Given the description of an element on the screen output the (x, y) to click on. 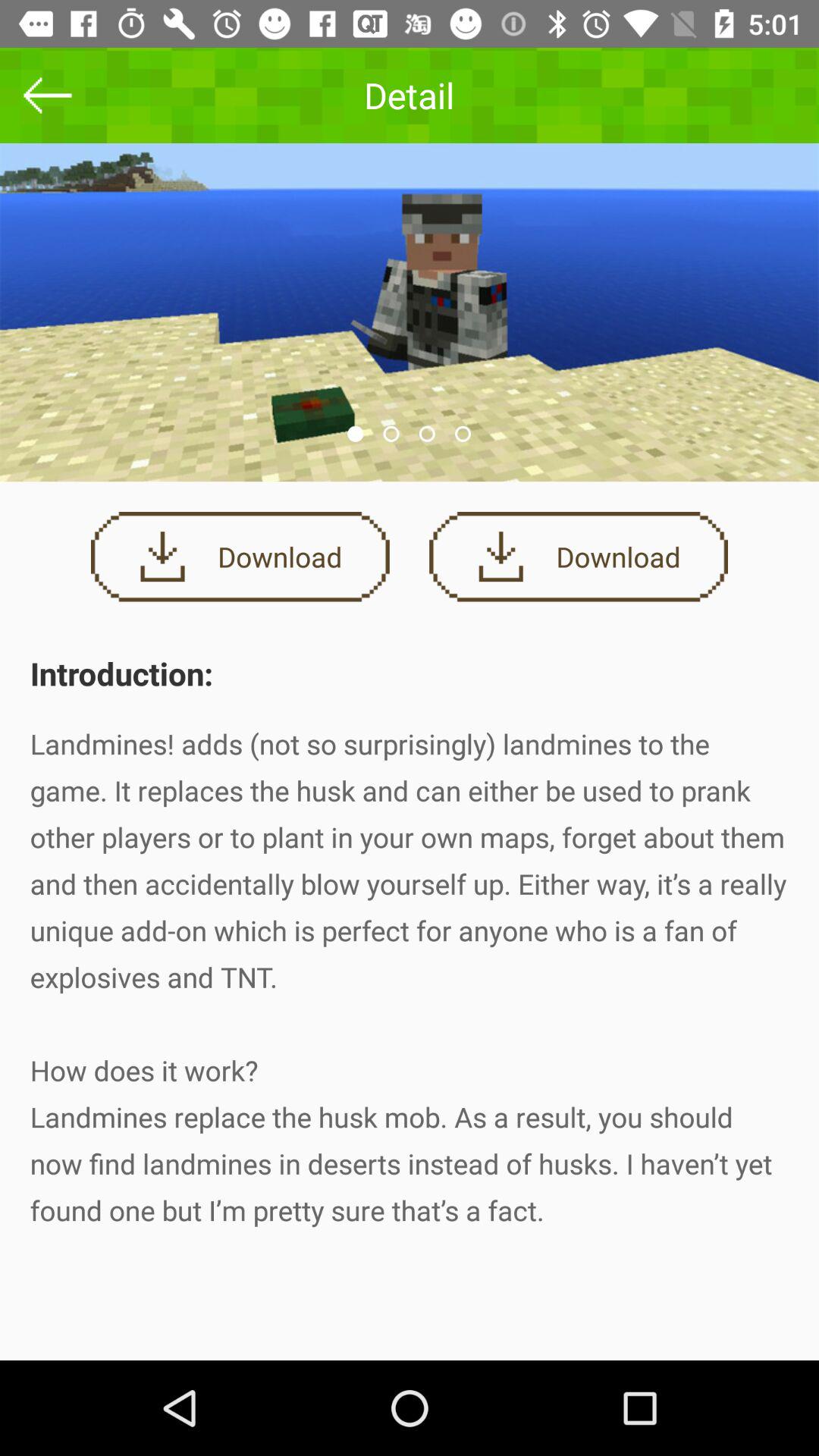
launch the icon to the left of the detail icon (47, 95)
